Given the description of an element on the screen output the (x, y) to click on. 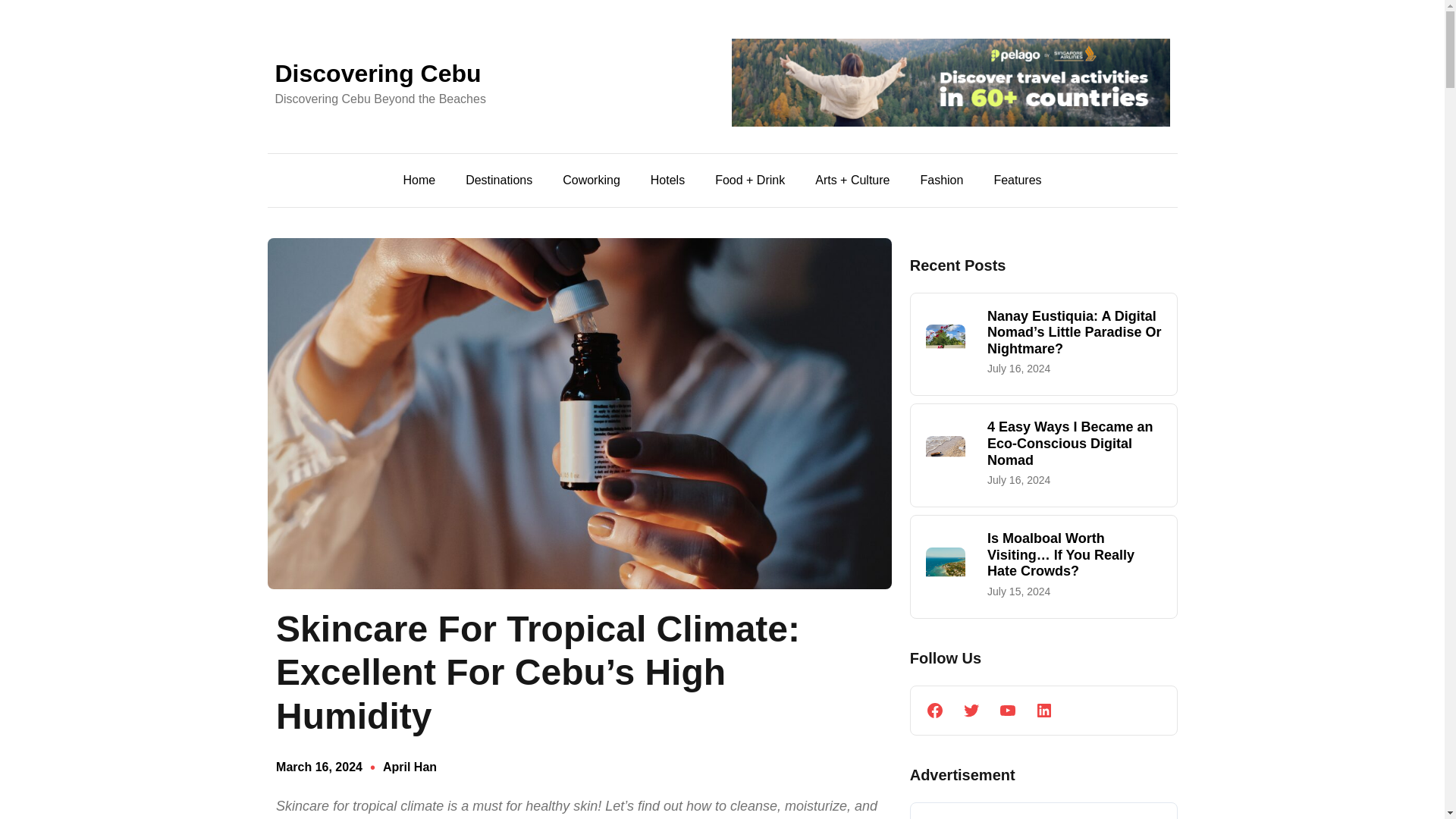
April Han (409, 766)
Home (419, 179)
Coworking (591, 179)
Discovering Cebu (377, 72)
Hotels (667, 179)
Destinations (498, 179)
Features (1016, 179)
Fashion (941, 179)
